Given the description of an element on the screen output the (x, y) to click on. 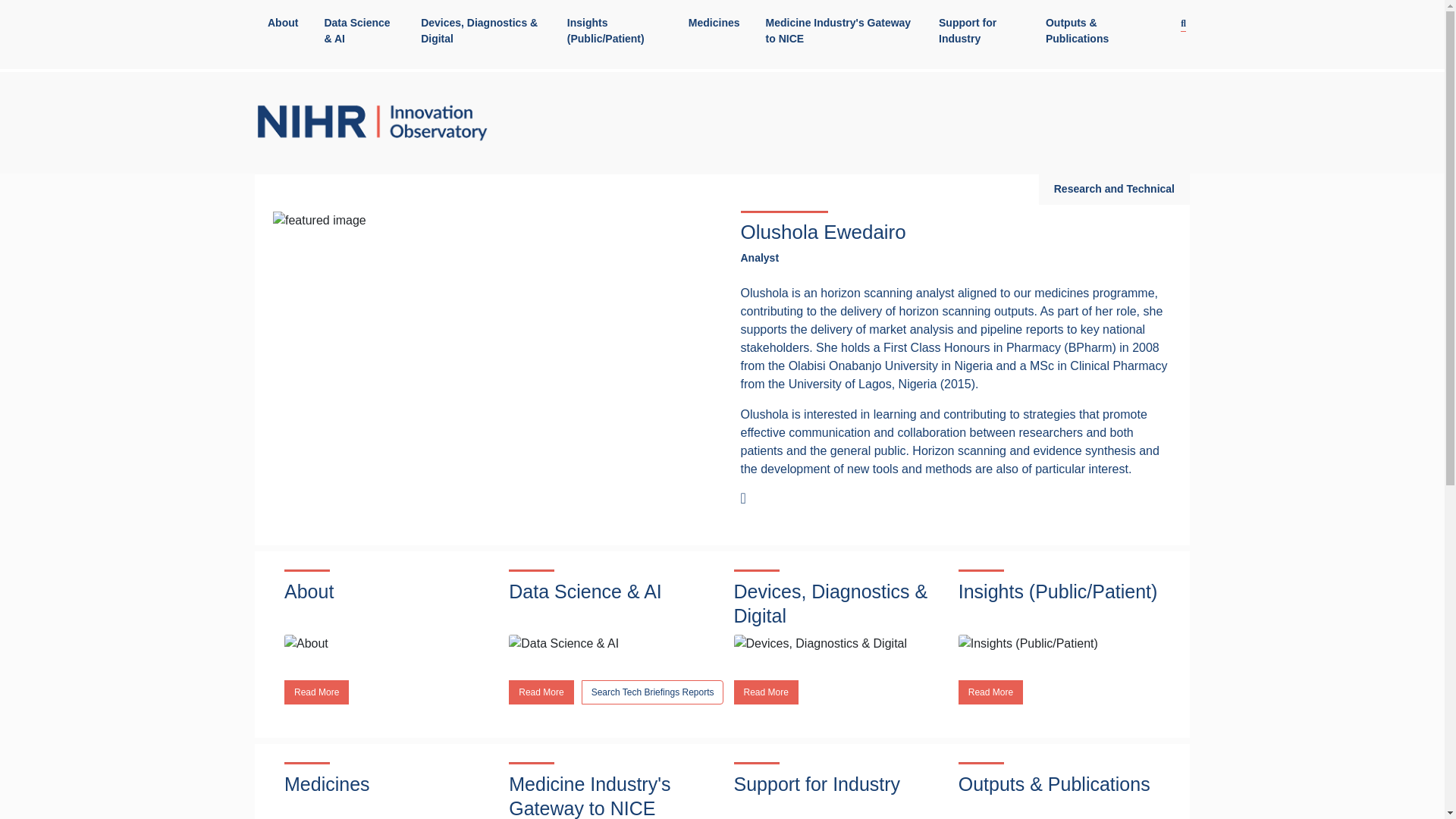
About (282, 23)
Medicines (713, 23)
Medicine Industry's Gateway to NICE (838, 31)
Support for Industry (979, 31)
